Given the description of an element on the screen output the (x, y) to click on. 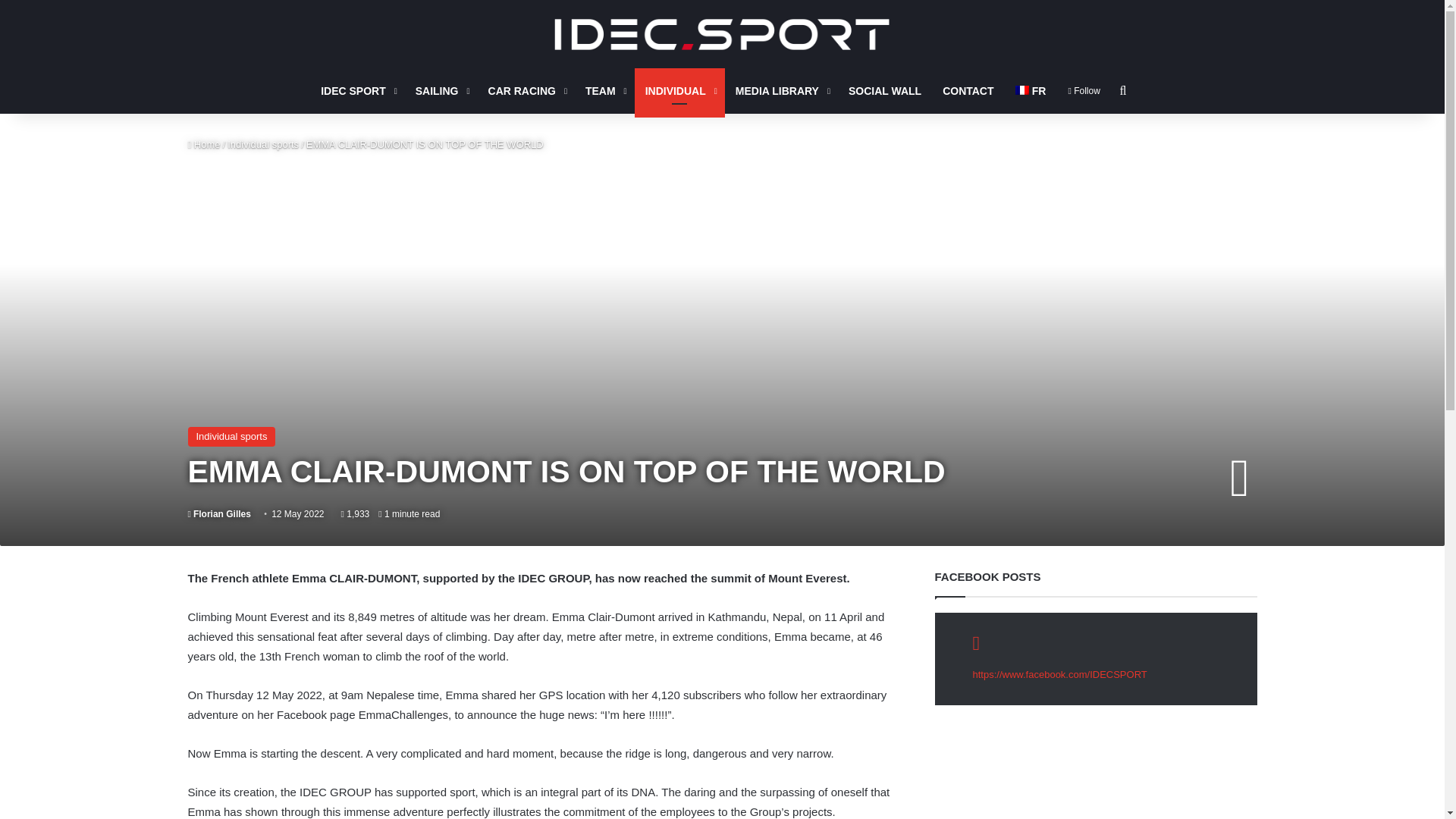
CAR RACING (526, 90)
FR (1030, 90)
IDEC SPORT (357, 90)
MEDIA LIBRARY (781, 90)
INDIVIDUAL (679, 90)
IDEC SPORT (722, 33)
SAILING (440, 90)
Florian Gilles (218, 513)
TEAM (604, 90)
